Given the description of an element on the screen output the (x, y) to click on. 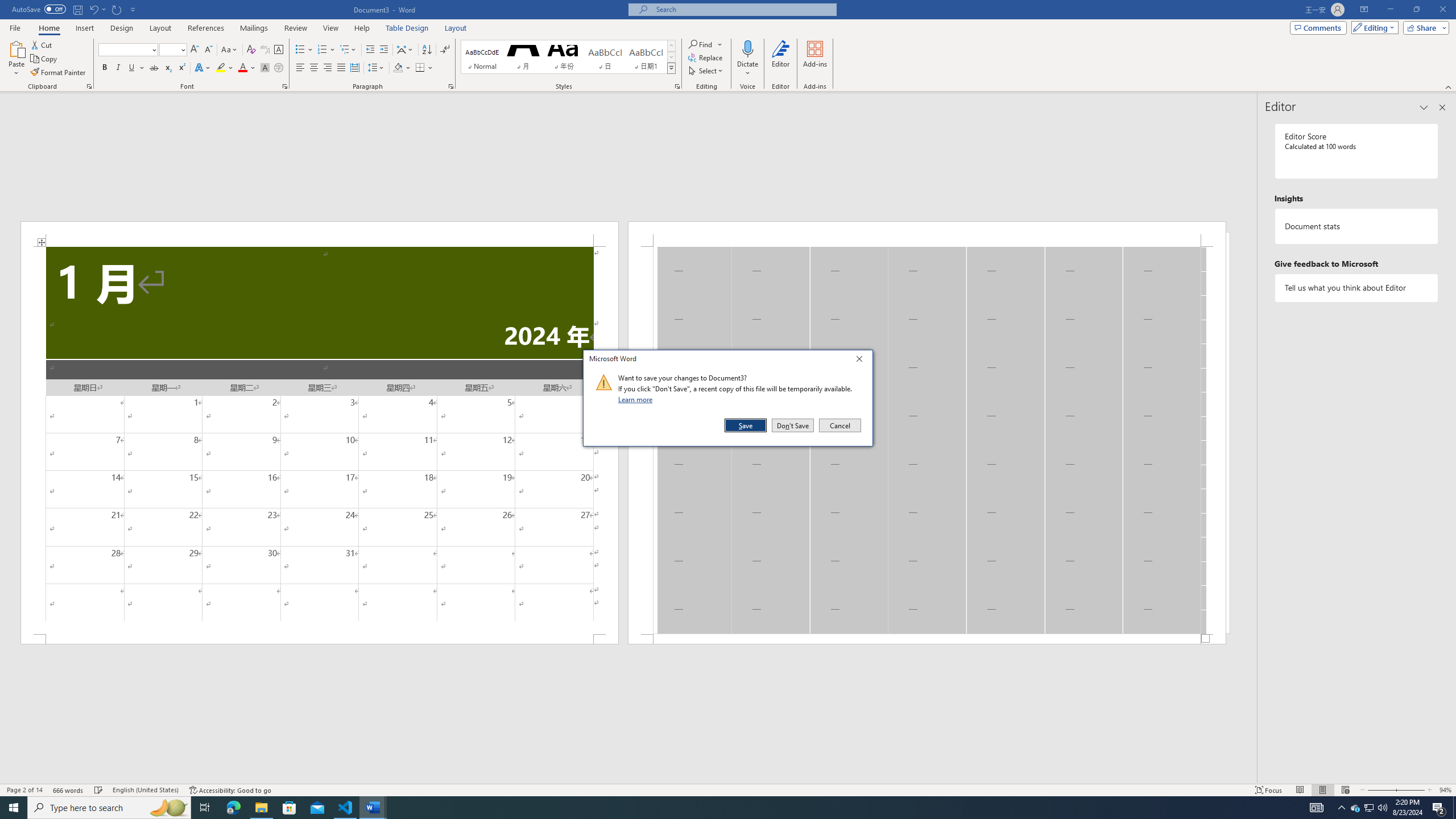
Undo Apply Quick Style (96, 9)
Action Center, 2 new notifications (1439, 807)
Cancel (839, 425)
Close pane (1441, 107)
Grow Font (193, 49)
Increase Indent (383, 49)
